Given the description of an element on the screen output the (x, y) to click on. 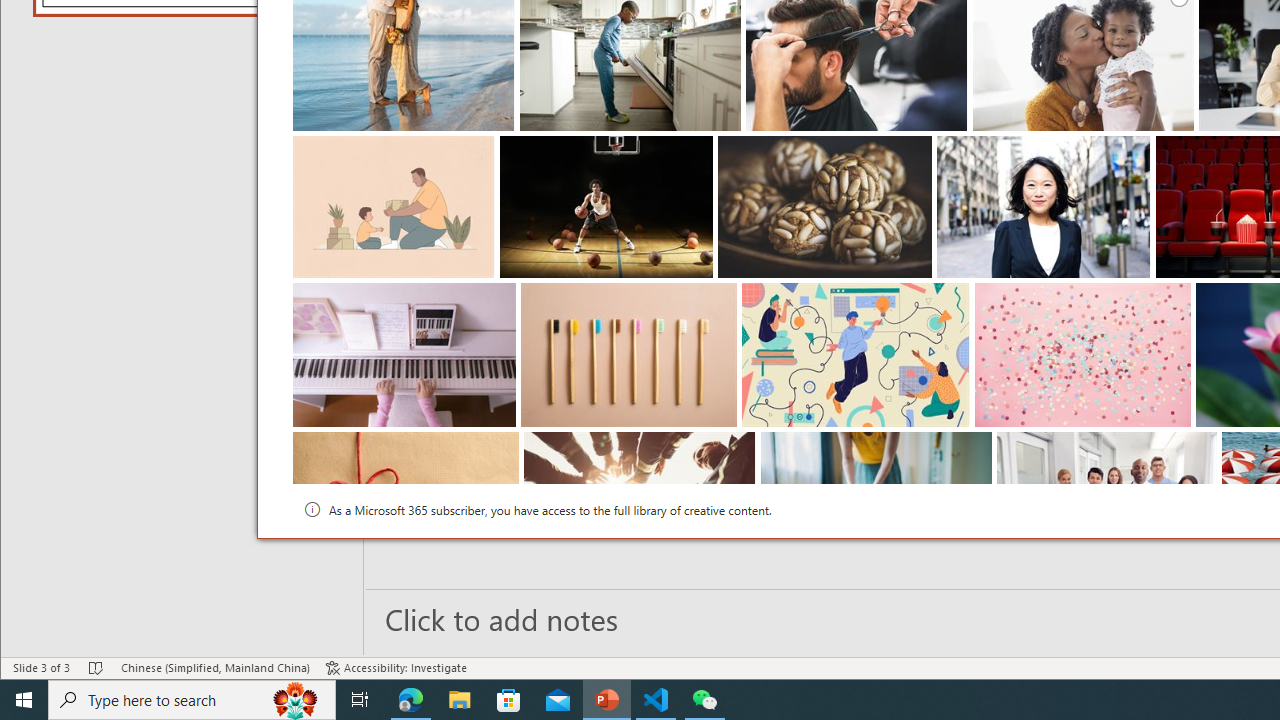
Microsoft Edge - 1 running window (411, 699)
